Given the description of an element on the screen output the (x, y) to click on. 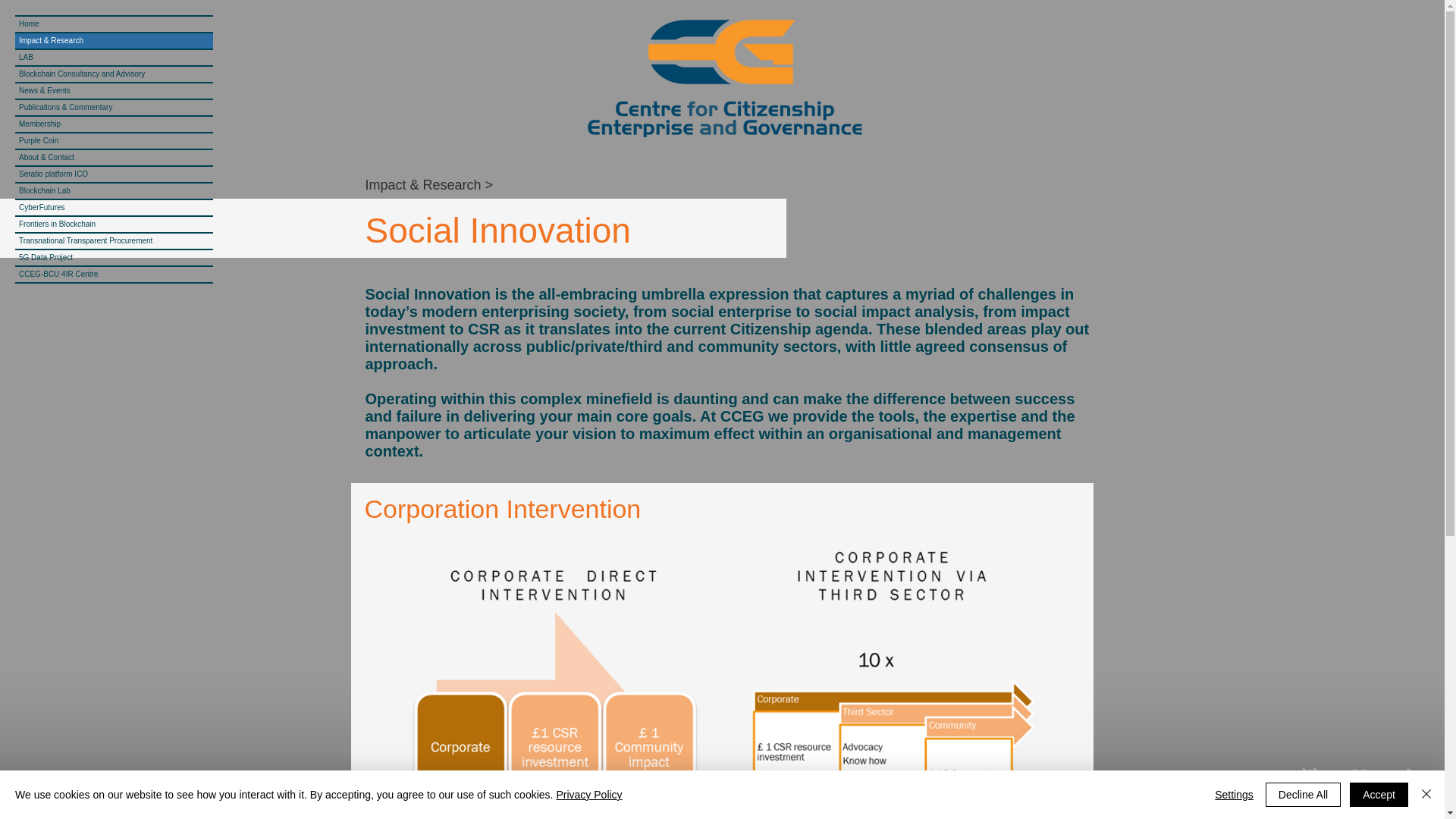
LAB (113, 57)
Home (113, 23)
Blockchain Consultancy and Advisory (113, 73)
Membership (113, 124)
